Given the description of an element on the screen output the (x, y) to click on. 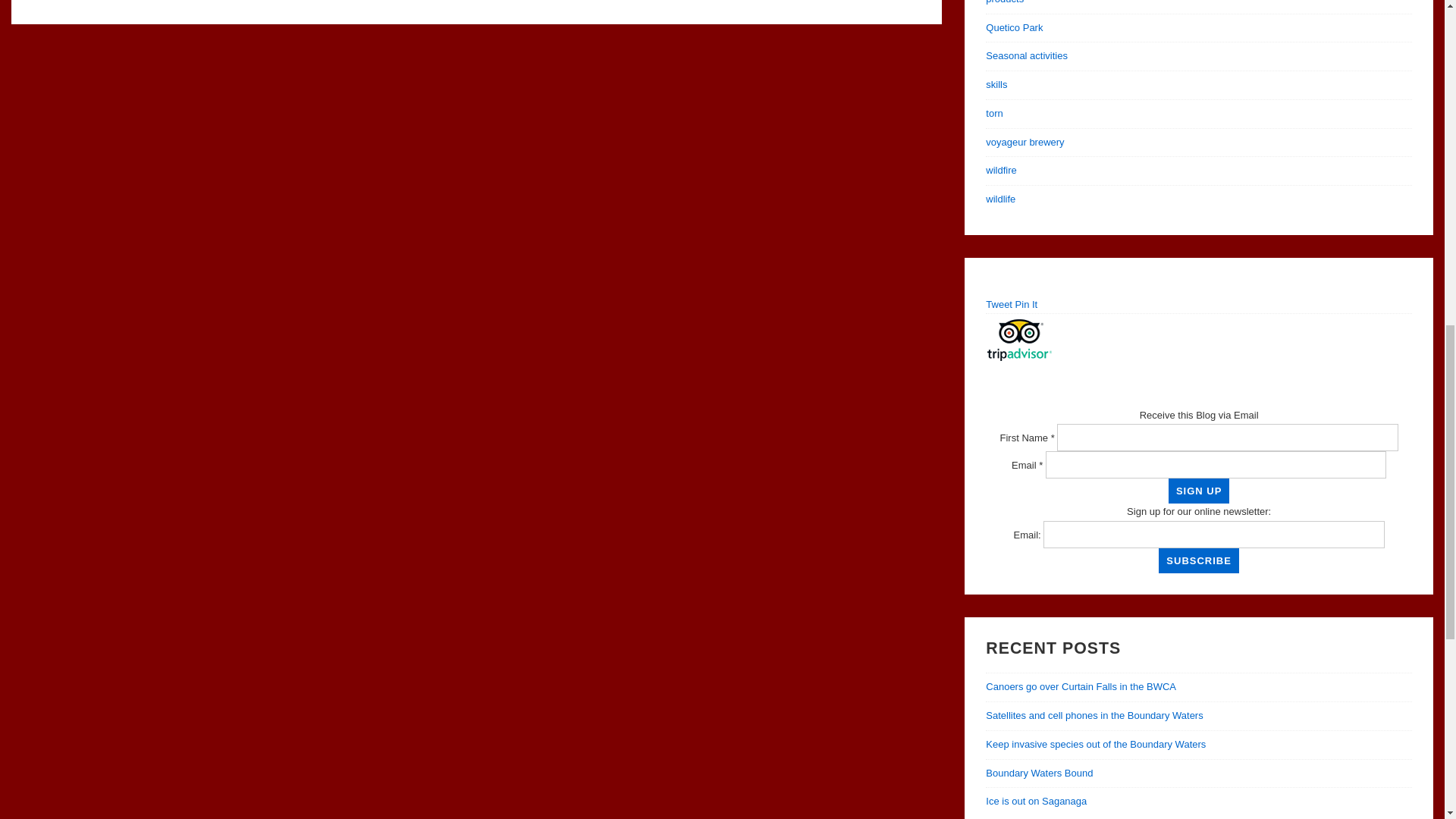
skills (996, 84)
Subscribe (1198, 560)
Quetico Park (1013, 27)
Subscribe (1198, 560)
Seasonal activities (1026, 55)
torn (994, 112)
products (1004, 2)
Canoers go over Curtain Falls in the BWCA (1080, 686)
Keep invasive species out of the Boundary Waters (1095, 744)
Pin It (1026, 304)
Sign Up (1198, 490)
wildlife (999, 198)
voyageur brewery (1024, 142)
wildfire (1000, 170)
Tweet (998, 304)
